Given the description of an element on the screen output the (x, y) to click on. 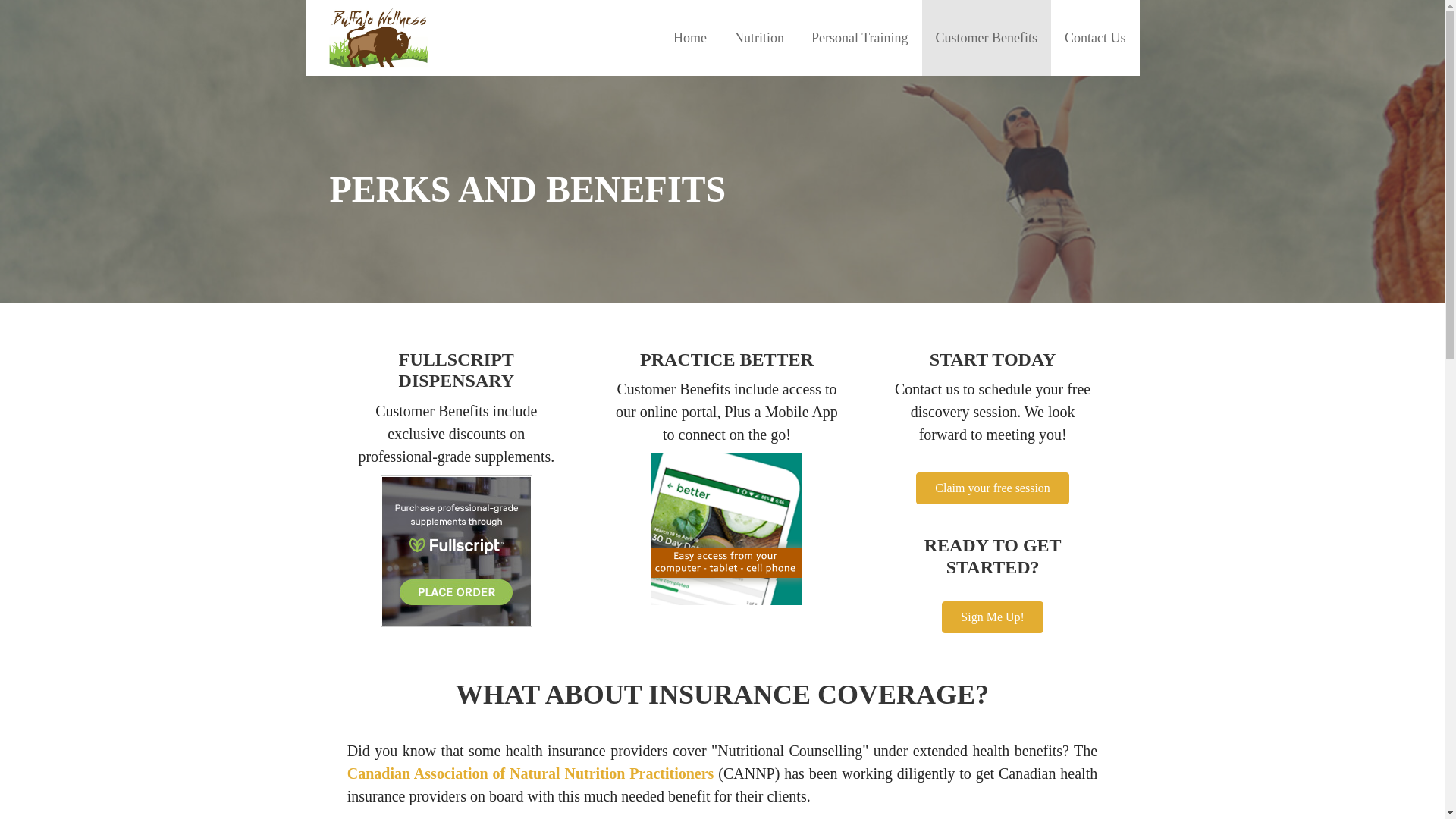
Contact Us (1095, 38)
Canadian Association of Natural Nutrition Practitioners (530, 773)
Nutrition (758, 38)
Sign Me Up! (992, 584)
Personal Training (859, 38)
Claim your free session (991, 436)
Customer Benefits (986, 38)
